Given the description of an element on the screen output the (x, y) to click on. 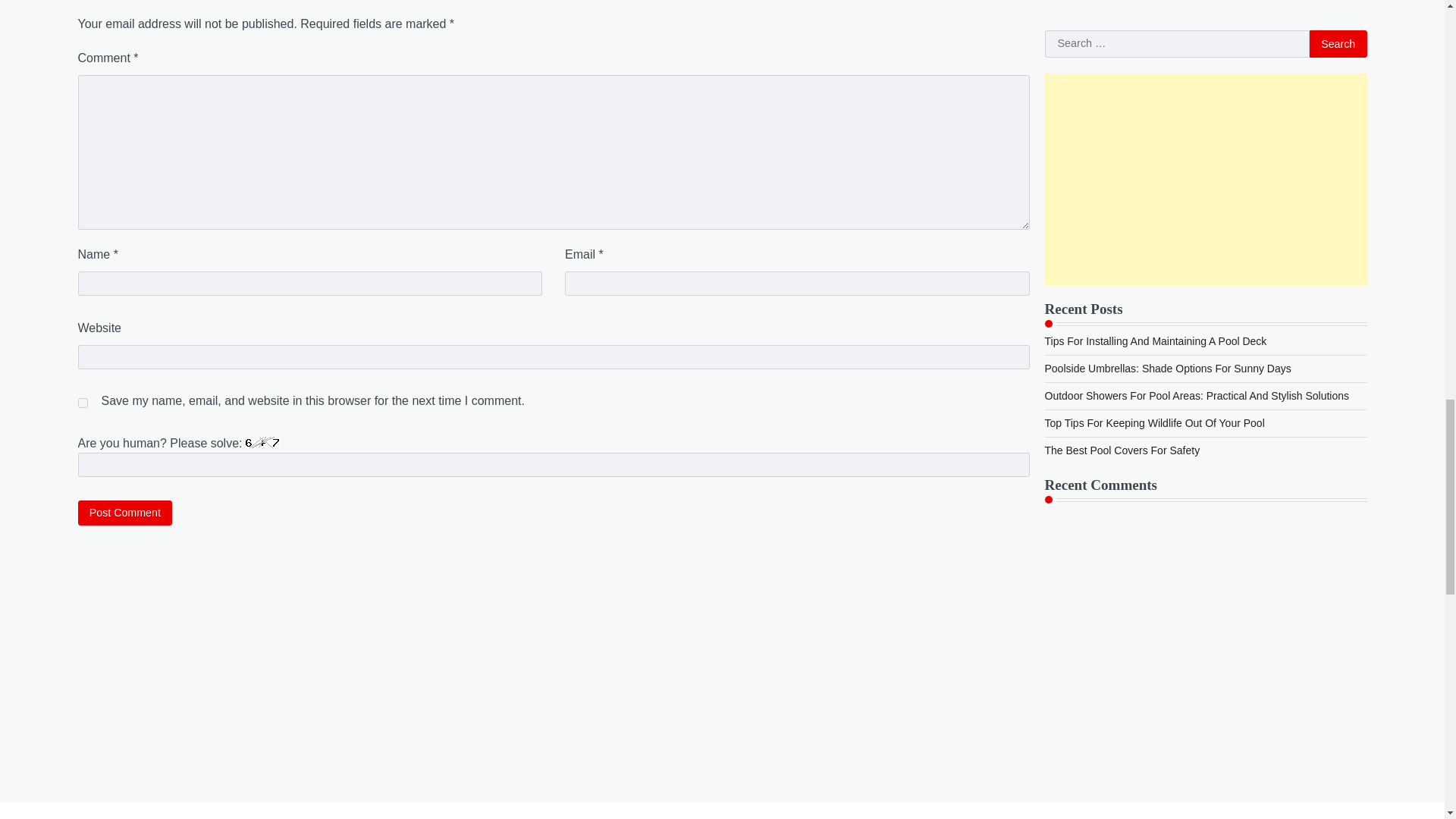
yes (82, 402)
Advertisement (721, 810)
Post Comment (124, 512)
Post Comment (124, 512)
